Given the description of an element on the screen output the (x, y) to click on. 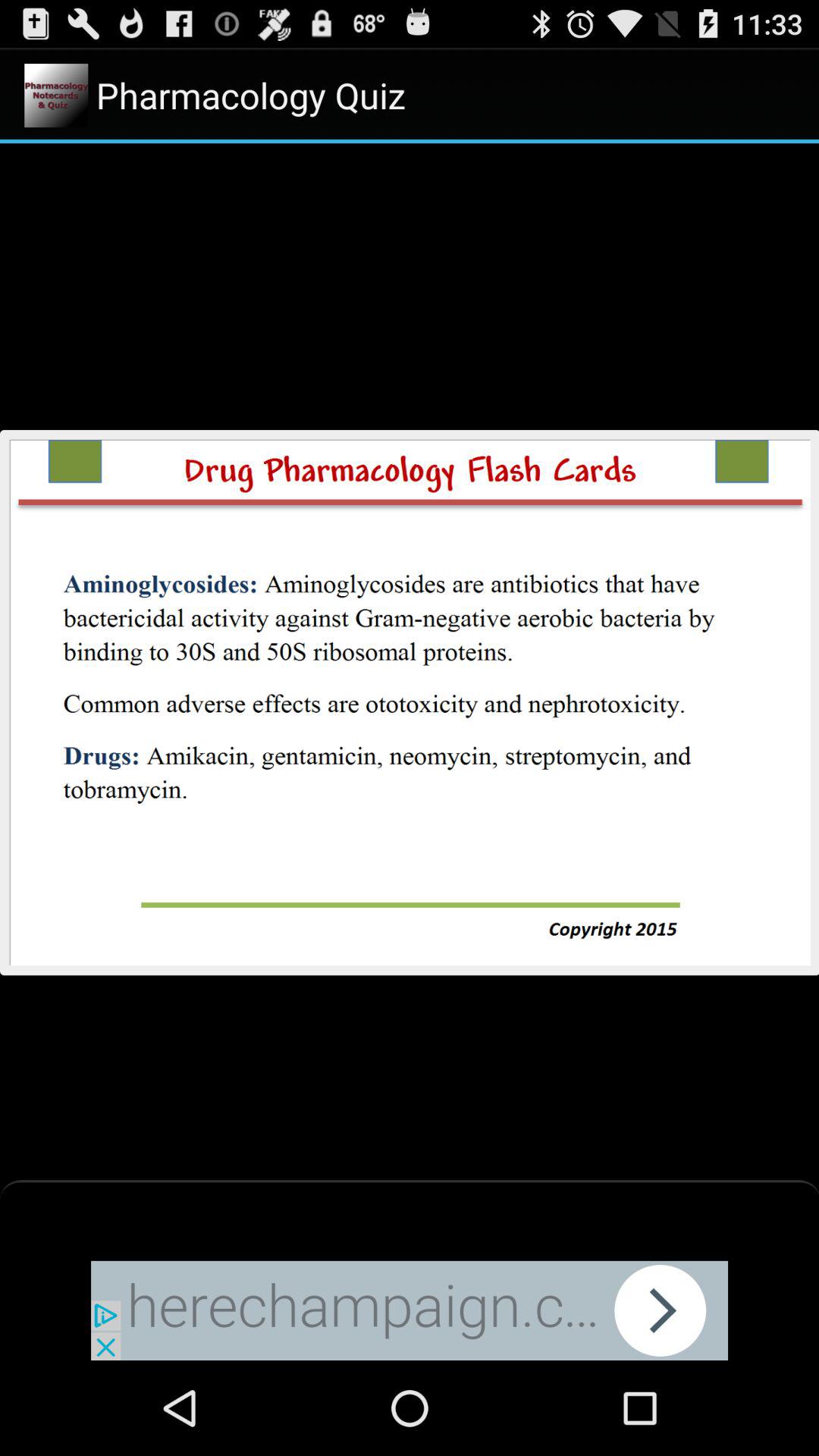
content of pharmacology quiz (409, 701)
